Given the description of an element on the screen output the (x, y) to click on. 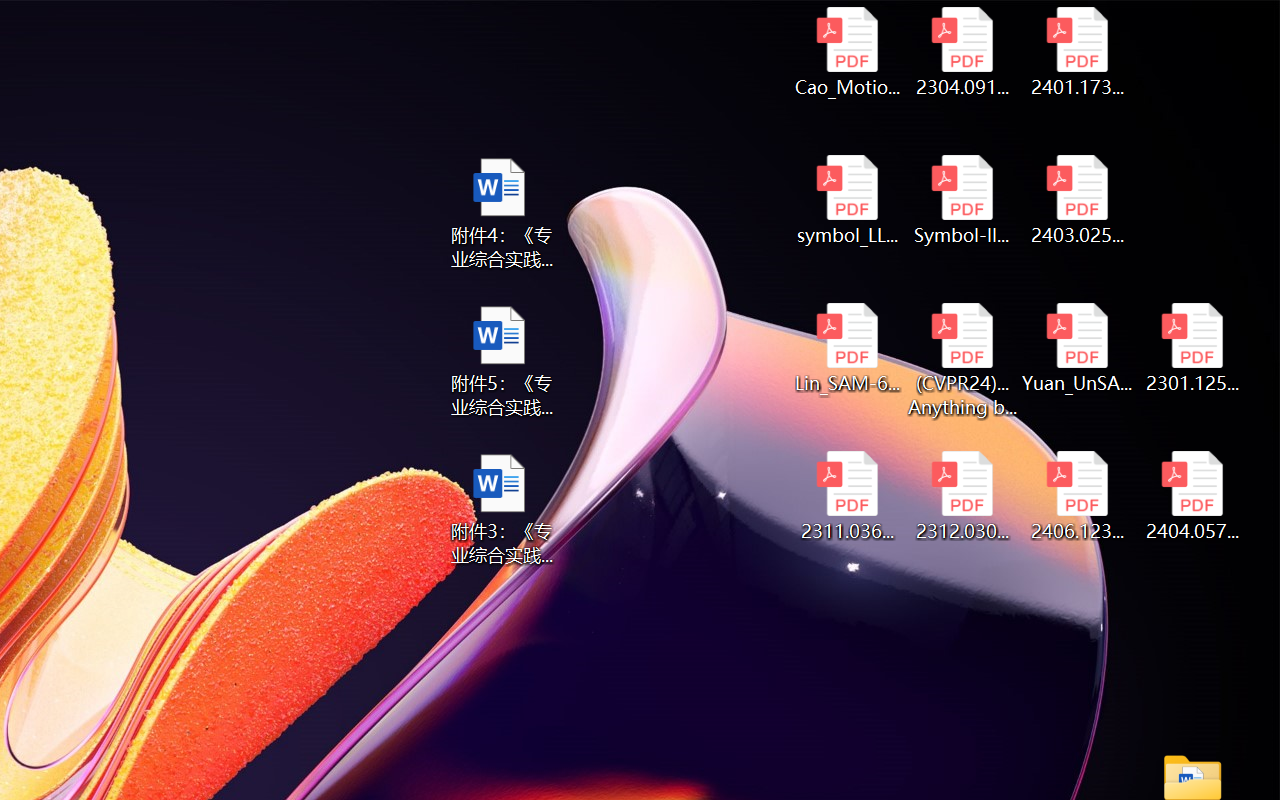
2312.03032v2.pdf (962, 496)
(CVPR24)Matching Anything by Segmenting Anything.pdf (962, 360)
symbol_LLM.pdf (846, 200)
2311.03658v2.pdf (846, 496)
2304.09121v3.pdf (962, 52)
2401.17399v1.pdf (1077, 52)
Symbol-llm-v2.pdf (962, 200)
2404.05719v1.pdf (1192, 496)
2403.02502v1.pdf (1077, 200)
